Given the description of an element on the screen output the (x, y) to click on. 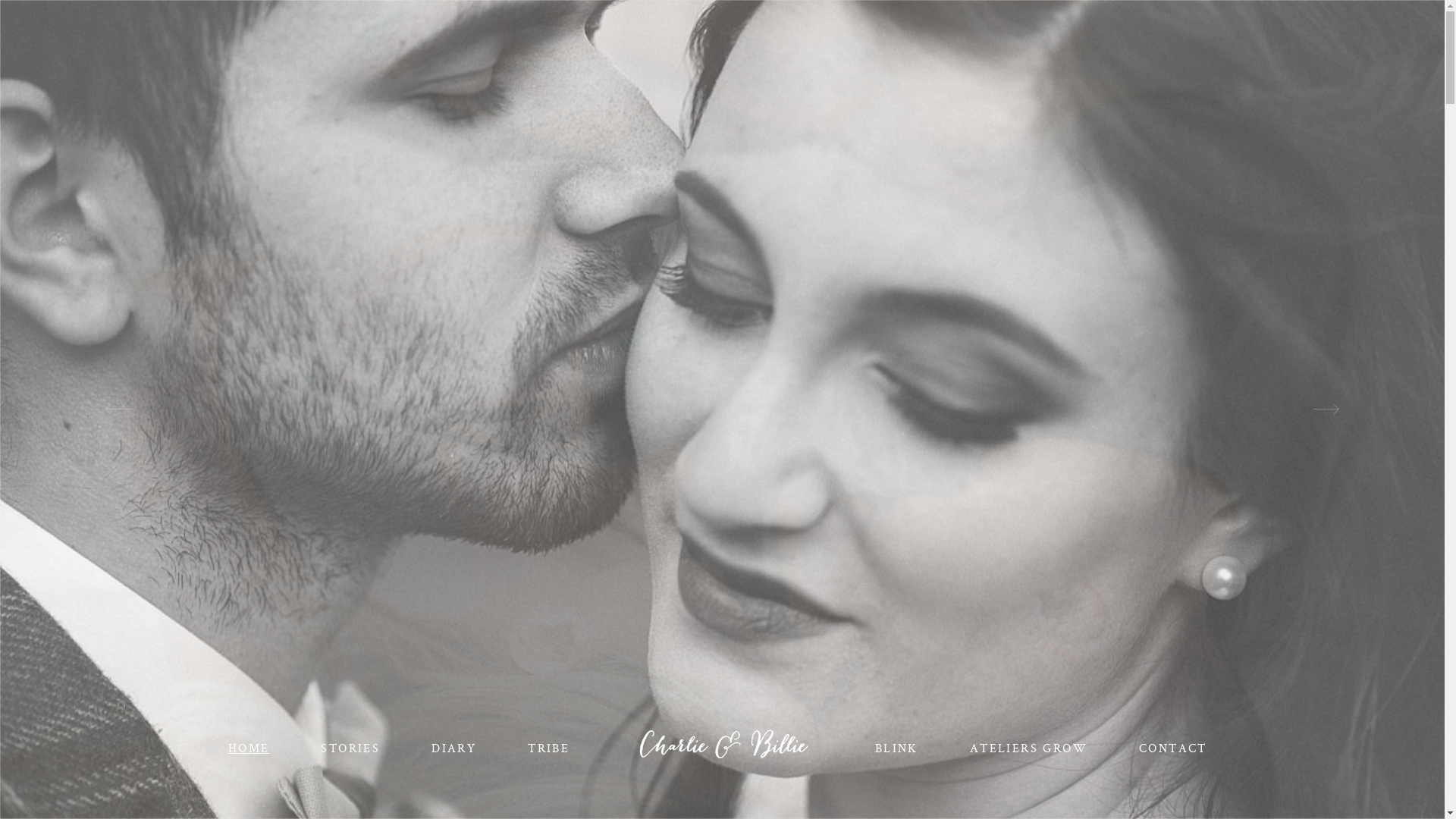
ATELIERS GROW Element type: text (1028, 748)
CONTACT Element type: text (1173, 748)
STORIES Element type: text (349, 748)
TRIBE Element type: text (548, 748)
BLINK Element type: text (896, 748)
HOME Element type: text (248, 748)
DIARY Element type: text (453, 748)
